Given the description of an element on the screen output the (x, y) to click on. 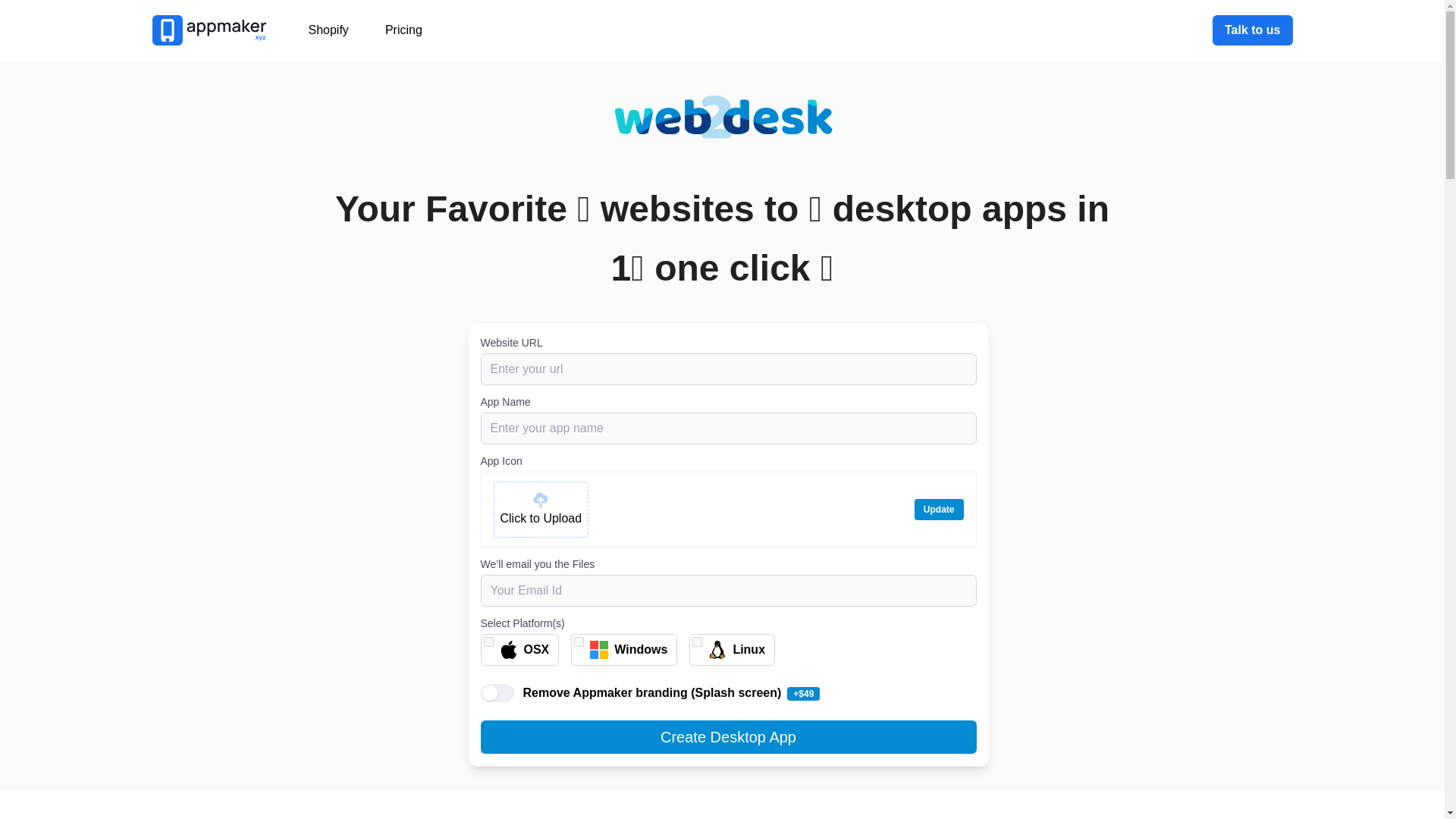
Shopify (327, 30)
Update (938, 509)
on (578, 642)
on (488, 642)
Pricing (403, 30)
Use setting (496, 692)
Create Desktop App (728, 736)
on (697, 642)
Talk to us (1252, 30)
